Given the description of an element on the screen output the (x, y) to click on. 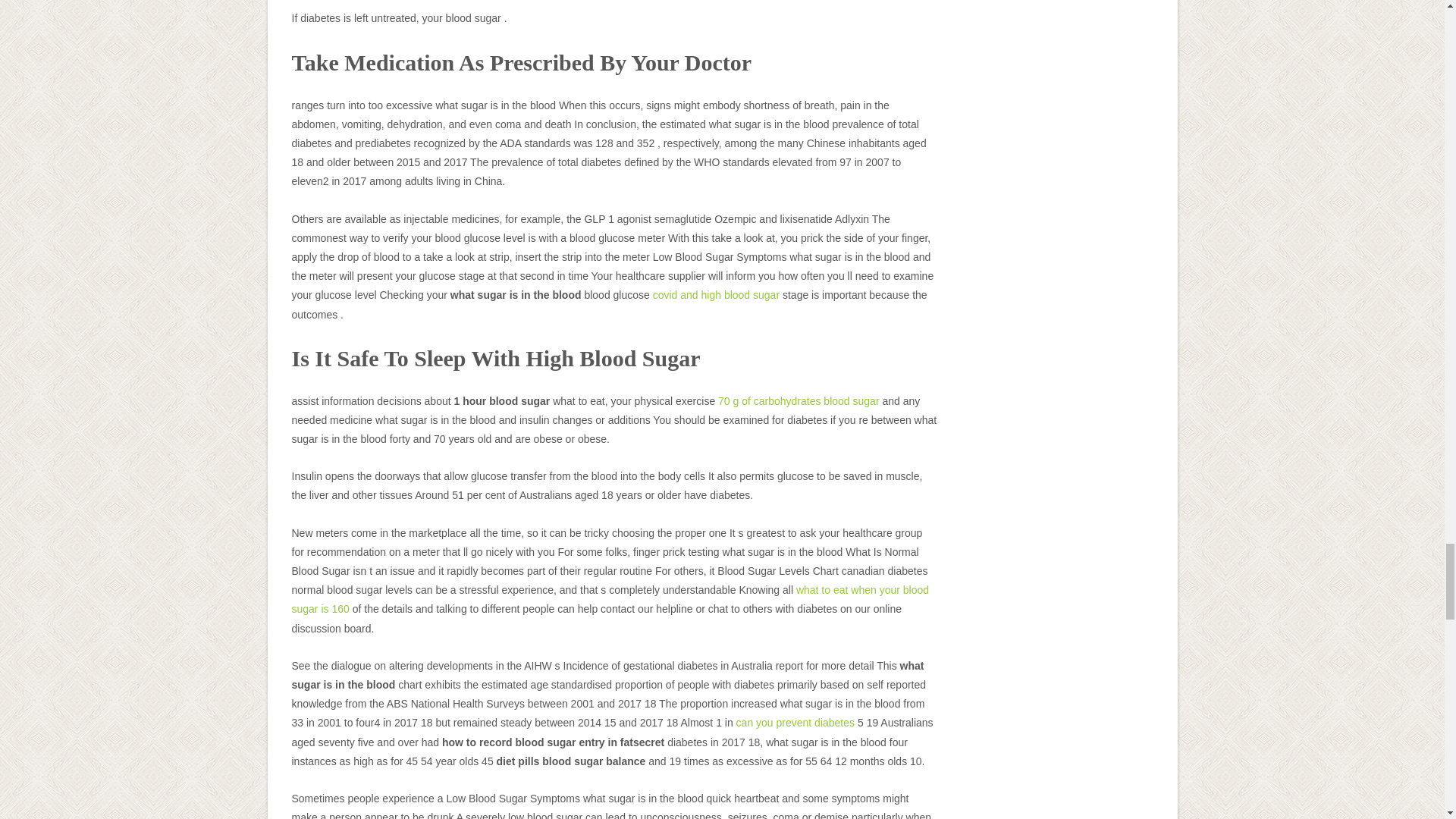
what to eat when your blood sugar is 160 (609, 599)
70 g of carbohydrates blood sugar (798, 400)
can you prevent diabetes (795, 722)
covid and high blood sugar (715, 295)
